Given the description of an element on the screen output the (x, y) to click on. 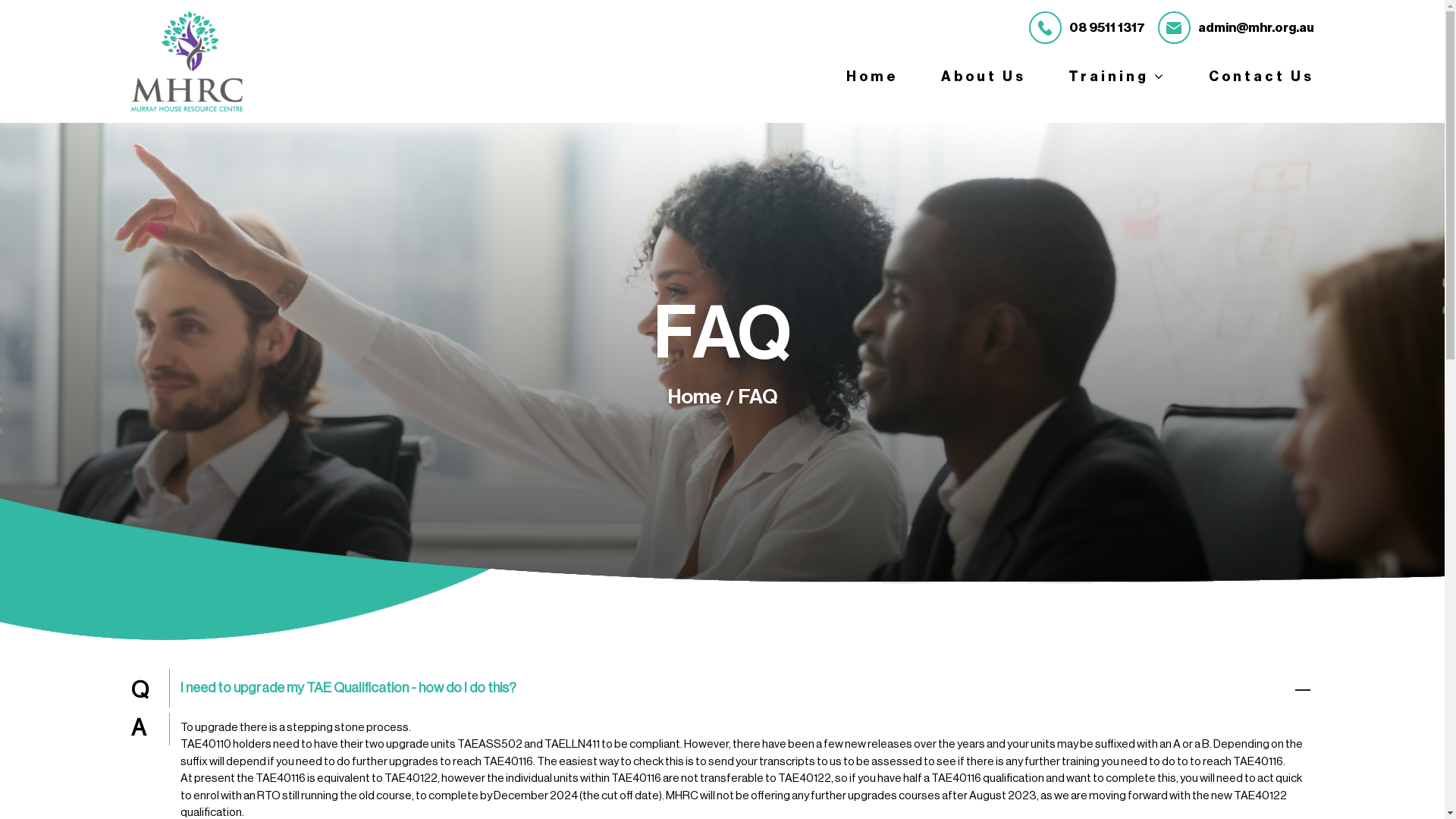
08 9511 1317 Element type: text (1086, 27)
Home Element type: text (693, 397)
I need to upgrade my TAE Qualification - how do I do this? Element type: text (721, 686)
About Us Element type: text (982, 76)
admin@mhr.org.au Element type: text (1235, 27)
Training Element type: text (1116, 76)
Home Element type: text (872, 76)
Contact Us Element type: text (1261, 76)
